Given the description of an element on the screen output the (x, y) to click on. 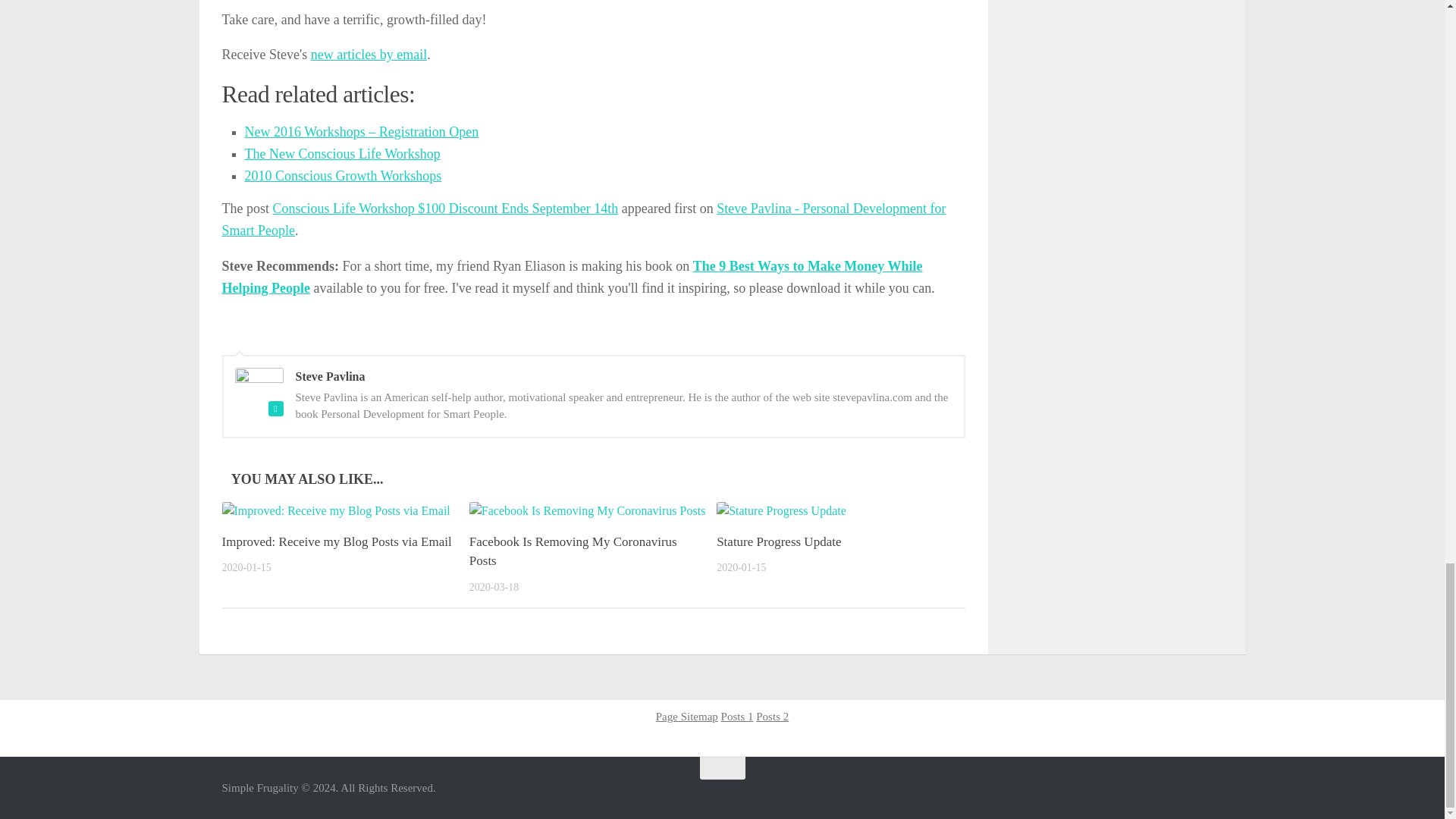
Improved: Receive my Blog Posts via Email (336, 541)
The 9 Best Ways to Make Money While Helping People (571, 276)
The New Conscious Life Workshop (341, 153)
new articles by email (368, 54)
The New Conscious Life Workshop (341, 153)
Facebook Is Removing My Coronavirus Posts (572, 551)
2010 Conscious Growth Workshops (342, 175)
Stature Progress Update (778, 541)
2010 Conscious Growth Workshops (342, 175)
Steve Pavlina - Personal Development for Smart People (582, 219)
